Given the description of an element on the screen output the (x, y) to click on. 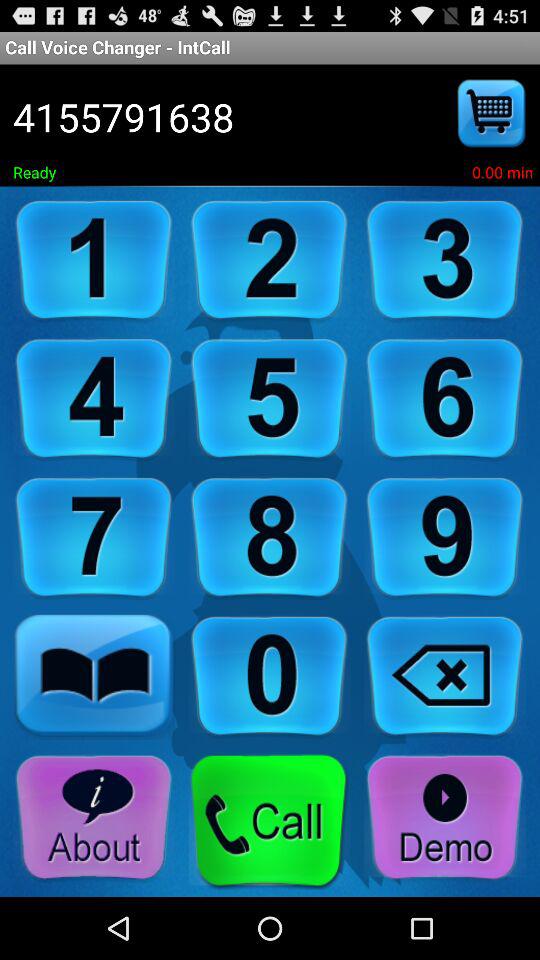
dial number 9 (445, 538)
